Given the description of an element on the screen output the (x, y) to click on. 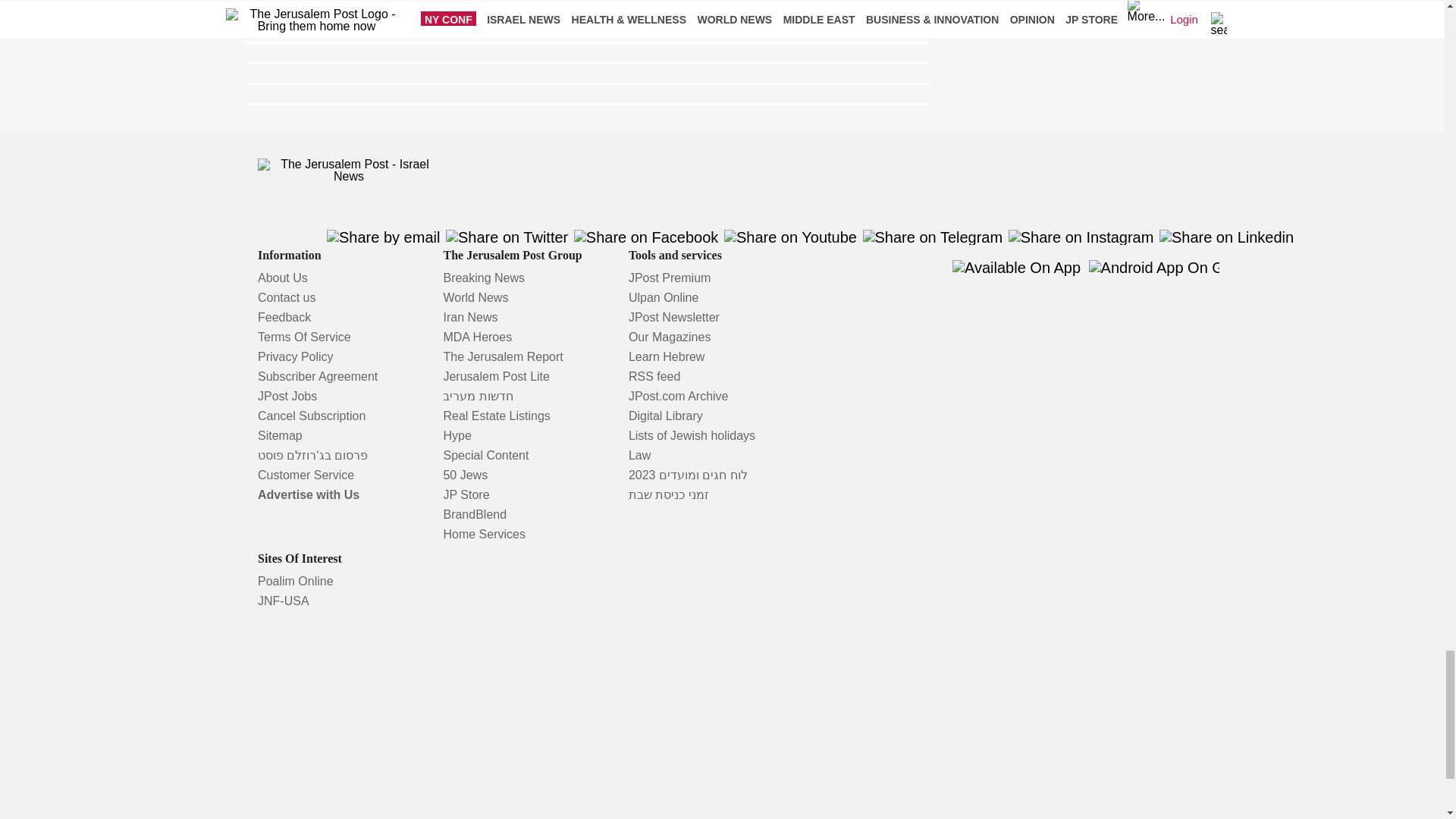
Labour party (456, 5)
Jeremy Corbyn (340, 5)
Jewish Labour Movement (375, 21)
Keir Starmer (526, 21)
labour antisemitism (584, 5)
labour antisemitism (584, 5)
Keir Starmer (526, 21)
Jeremy Corbyn (340, 5)
Labour party (456, 5)
Jewish Labour Movement (375, 21)
